Given the description of an element on the screen output the (x, y) to click on. 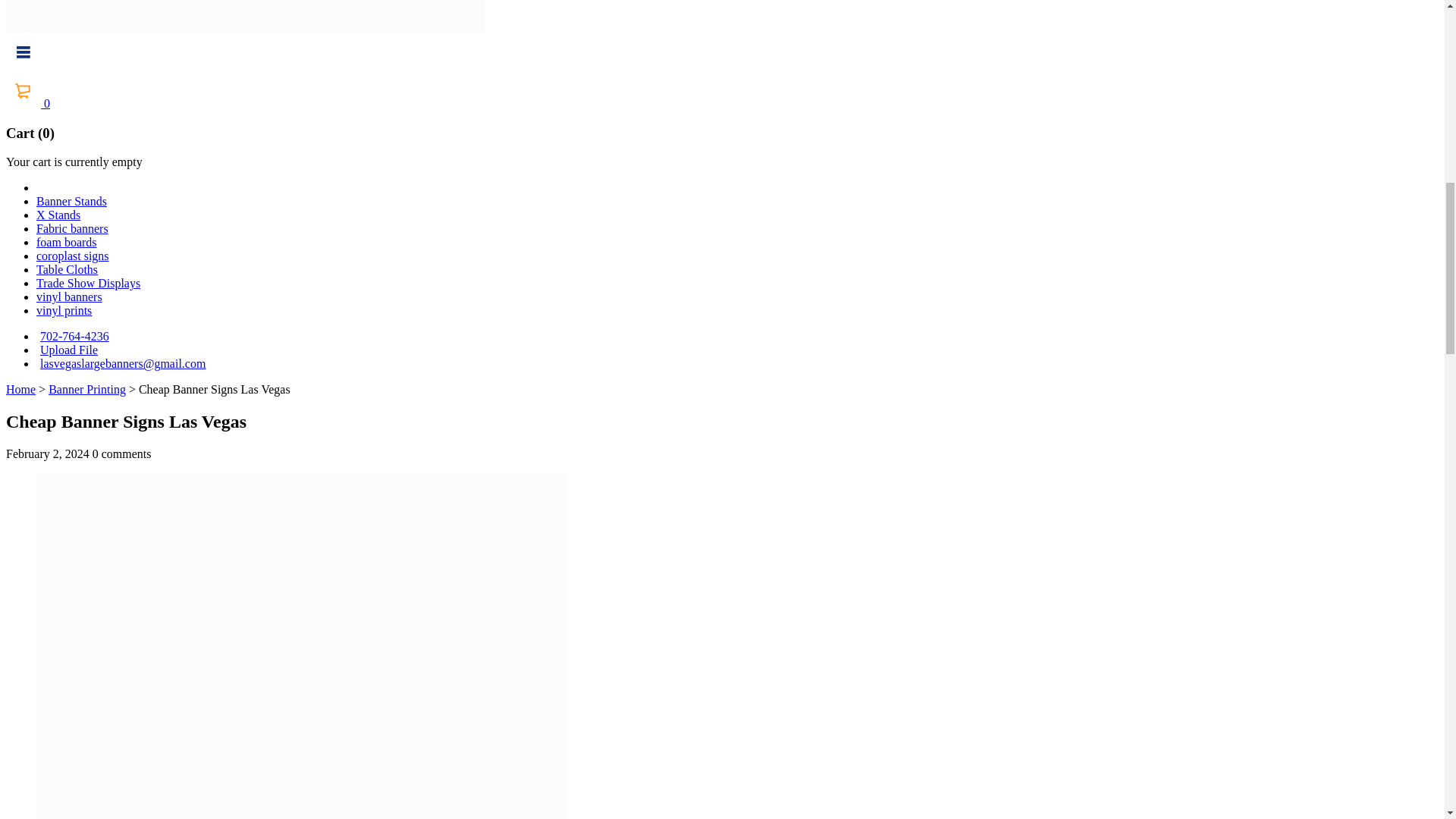
foam boards (66, 241)
X Stands (58, 214)
coroplast signs (72, 255)
Home (19, 389)
Trade Show Displays (87, 282)
702-764-4236 (72, 336)
Table Cloths (66, 269)
Upload File (66, 349)
Las Vegas Large Banners (244, 15)
0 (27, 103)
